Given the description of an element on the screen output the (x, y) to click on. 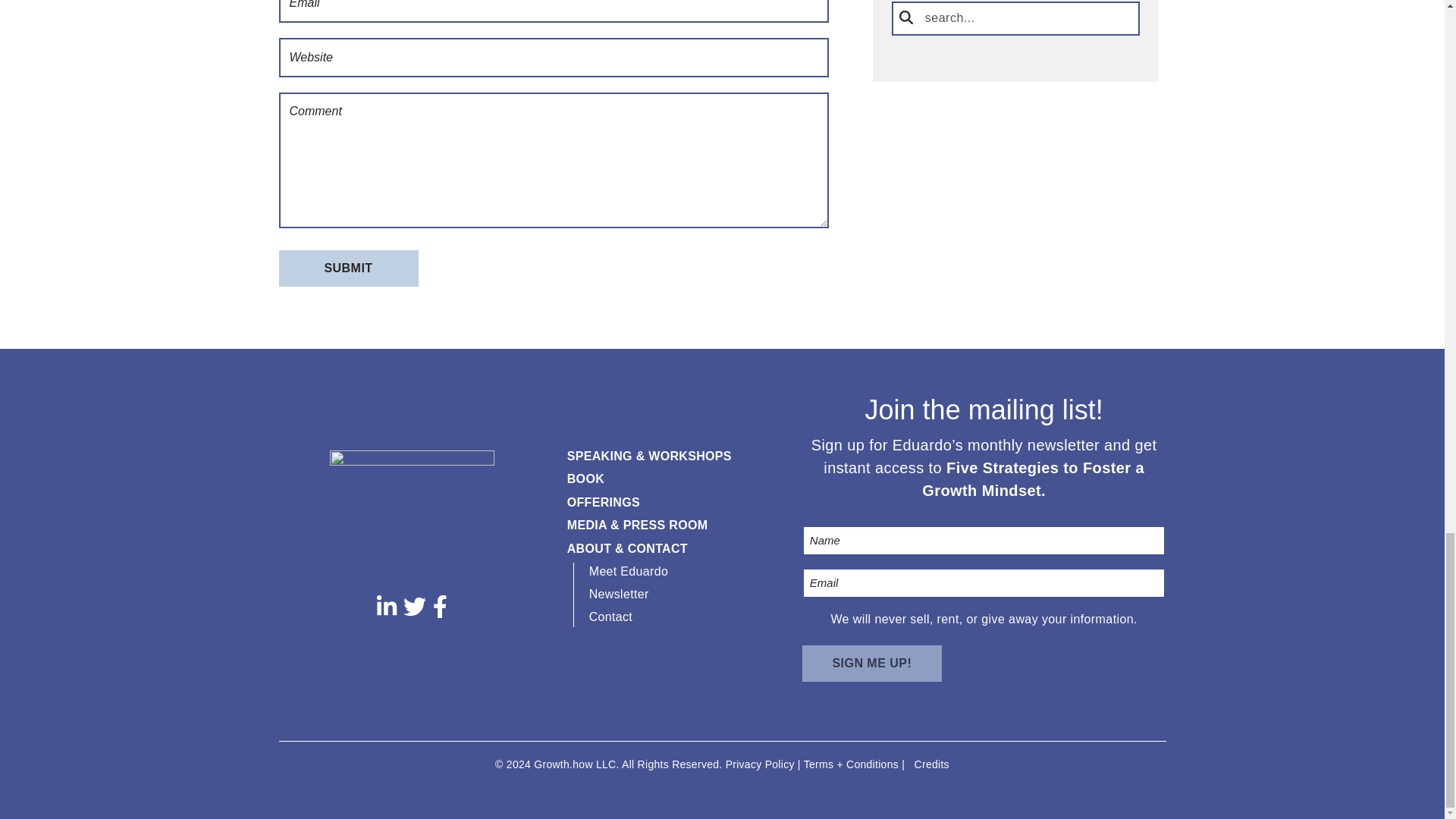
Sign me up! (872, 663)
Search... (1015, 18)
SUBMIT (349, 268)
Search... (1015, 18)
